Given the description of an element on the screen output the (x, y) to click on. 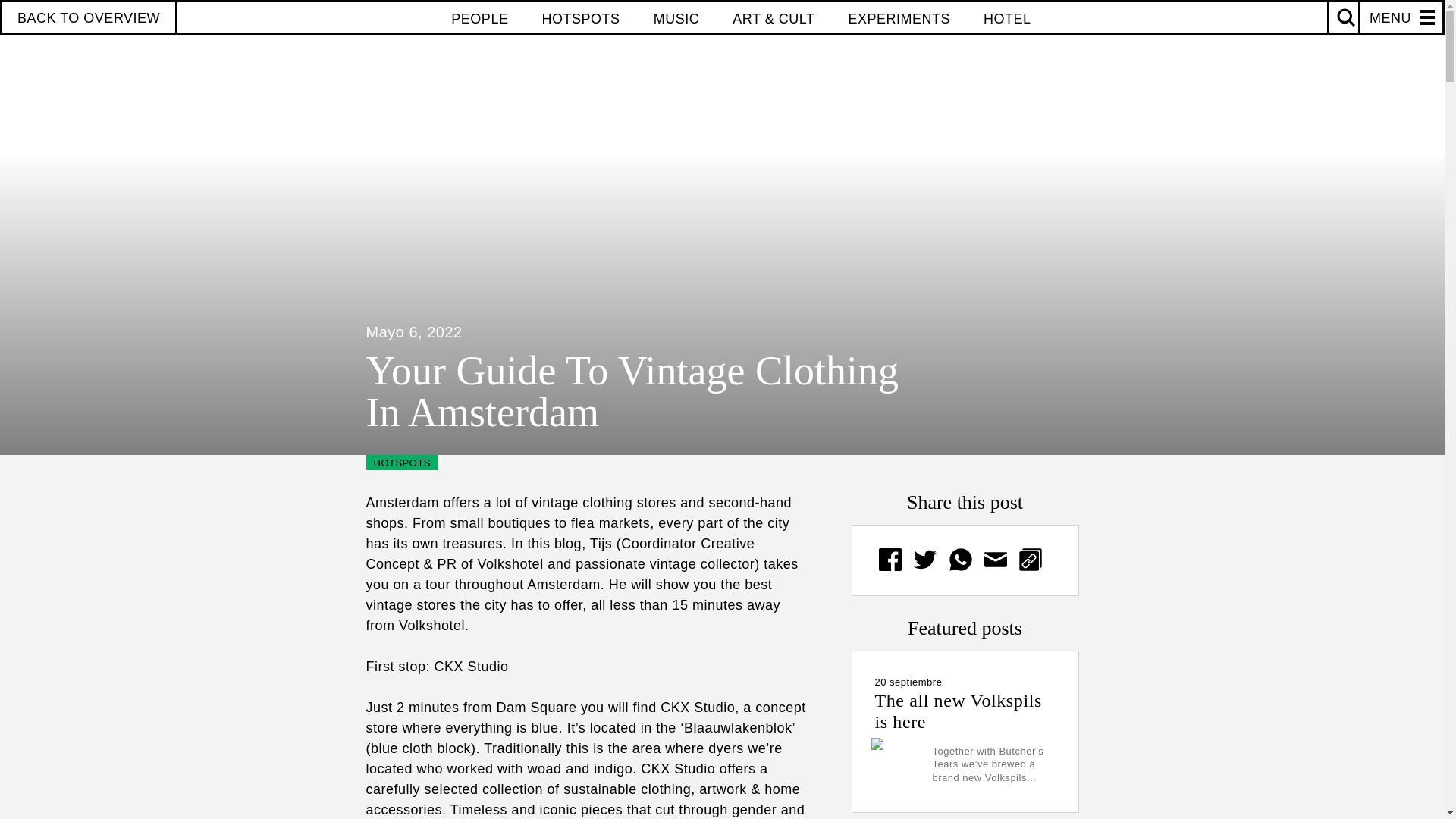
MUSIC (676, 18)
HOTSPOTS (580, 18)
MENU (1385, 18)
BACK TO OVERVIEW (88, 18)
PEOPLE (479, 18)
HOTEL (1007, 18)
EXPERIMENTS (898, 18)
